Given the description of an element on the screen output the (x, y) to click on. 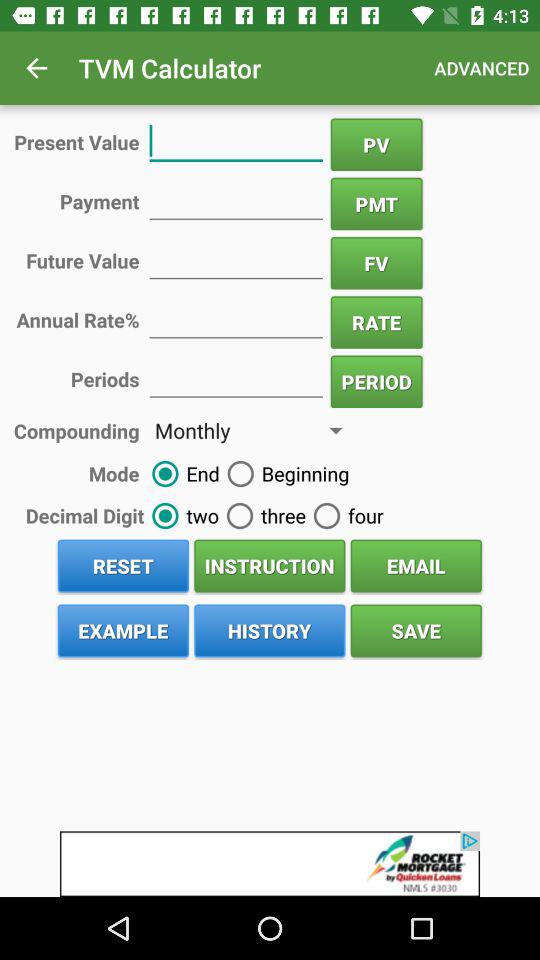
insert periods (236, 378)
